Given the description of an element on the screen output the (x, y) to click on. 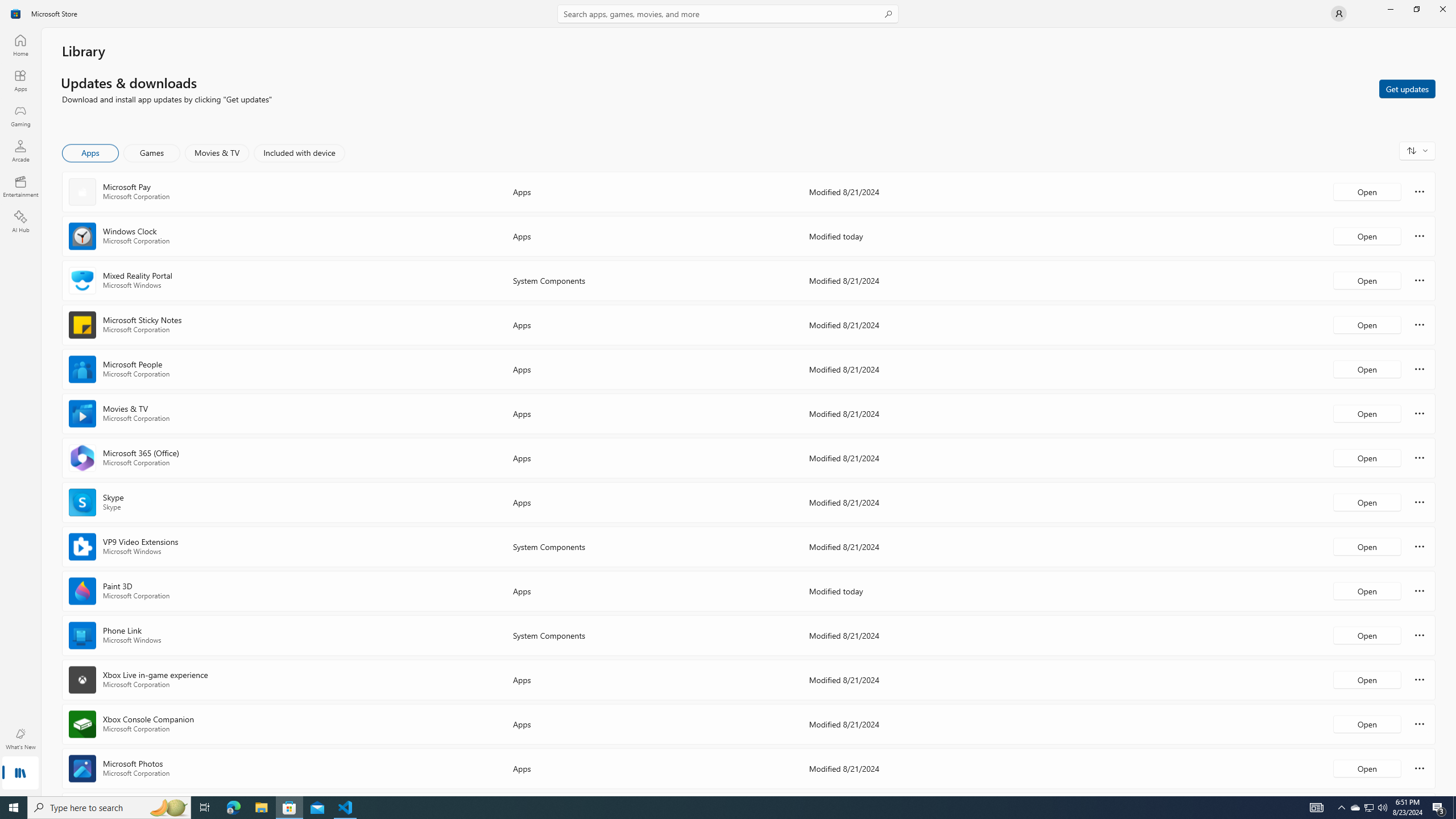
Gaming (20, 115)
Movies & TV (216, 153)
Included with device (299, 153)
Close Microsoft Store (1442, 9)
Sort and filter (1417, 149)
Class: Image (15, 13)
Open (1366, 768)
Games (151, 153)
Library (20, 773)
Minimize Microsoft Store (1390, 9)
User profile (1338, 13)
Home (20, 45)
AI Hub (20, 221)
What's New (20, 738)
Restore Microsoft Store (1416, 9)
